Given the description of an element on the screen output the (x, y) to click on. 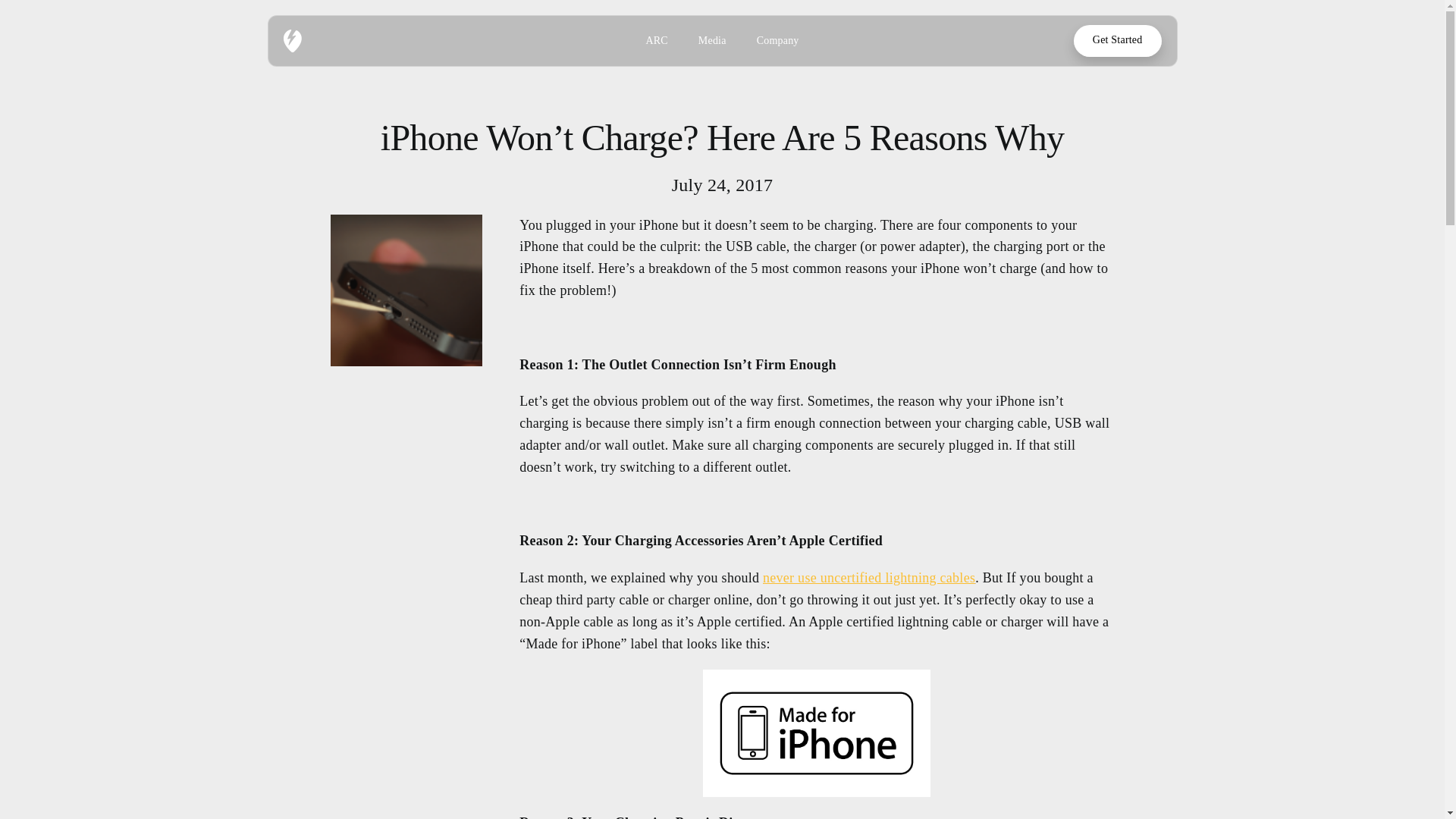
ARC (655, 40)
Media (712, 40)
Get Started (1117, 40)
never use uncertified lightning cables (868, 577)
Company (778, 40)
iphone-wont-charge-1 (405, 290)
